Given the description of an element on the screen output the (x, y) to click on. 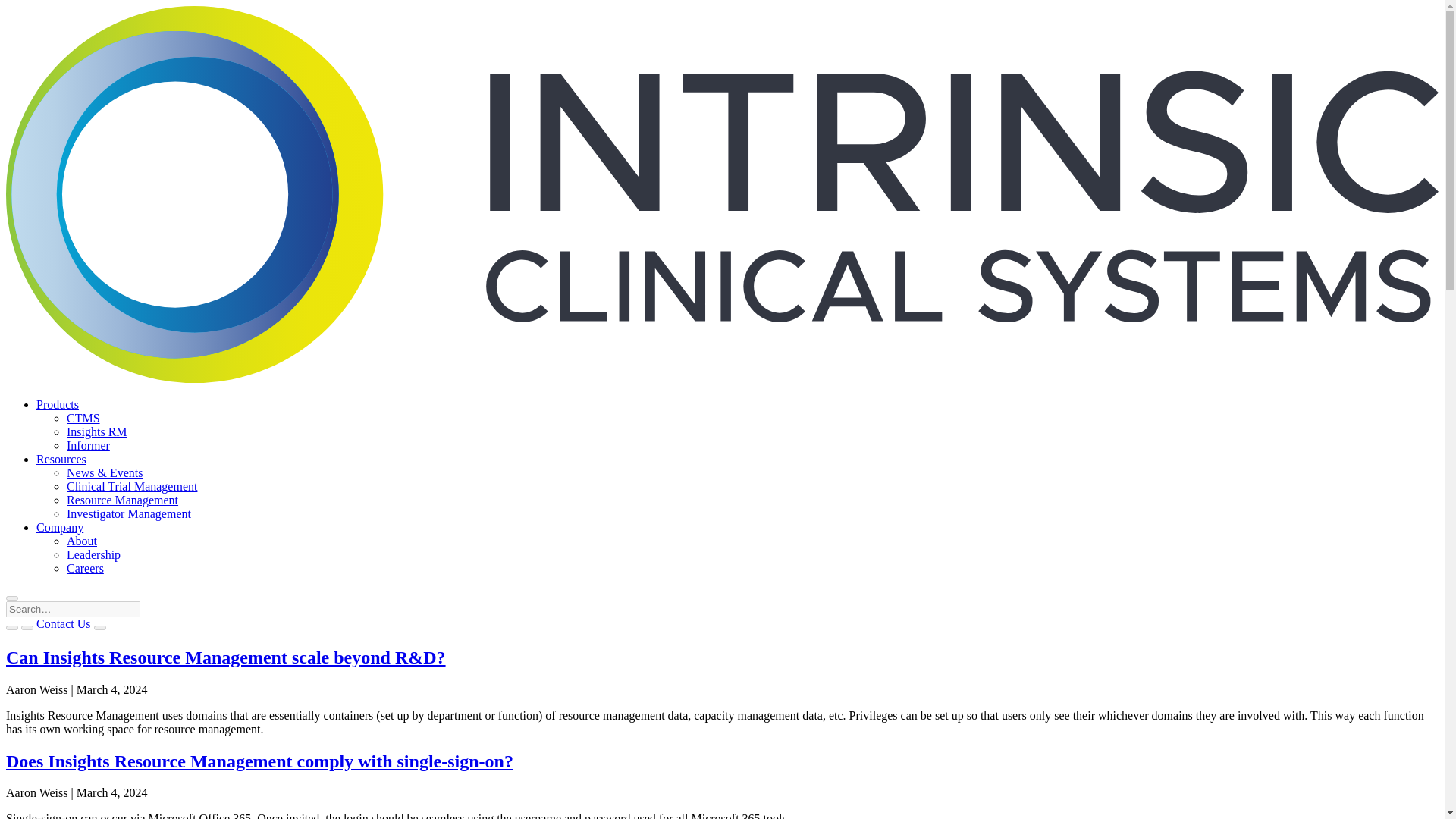
Contact Us (65, 623)
CTMS (83, 418)
Clinical Trial Management (131, 486)
Resources (60, 459)
Enable dark mode (27, 627)
Enable light mode (11, 627)
Informer (88, 445)
Resource Management (121, 499)
Products (57, 404)
Leadership (93, 554)
